Given the description of an element on the screen output the (x, y) to click on. 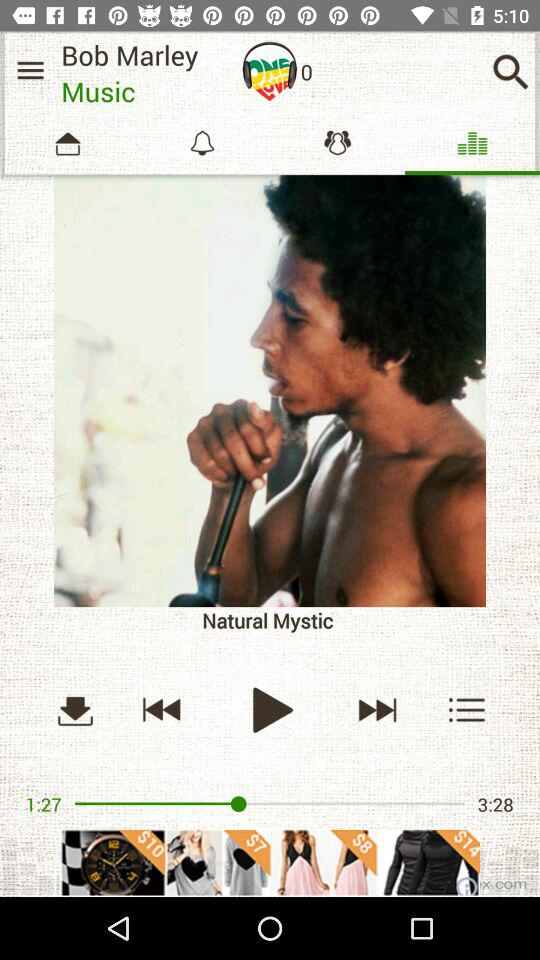
previous track (162, 709)
